Given the description of an element on the screen output the (x, y) to click on. 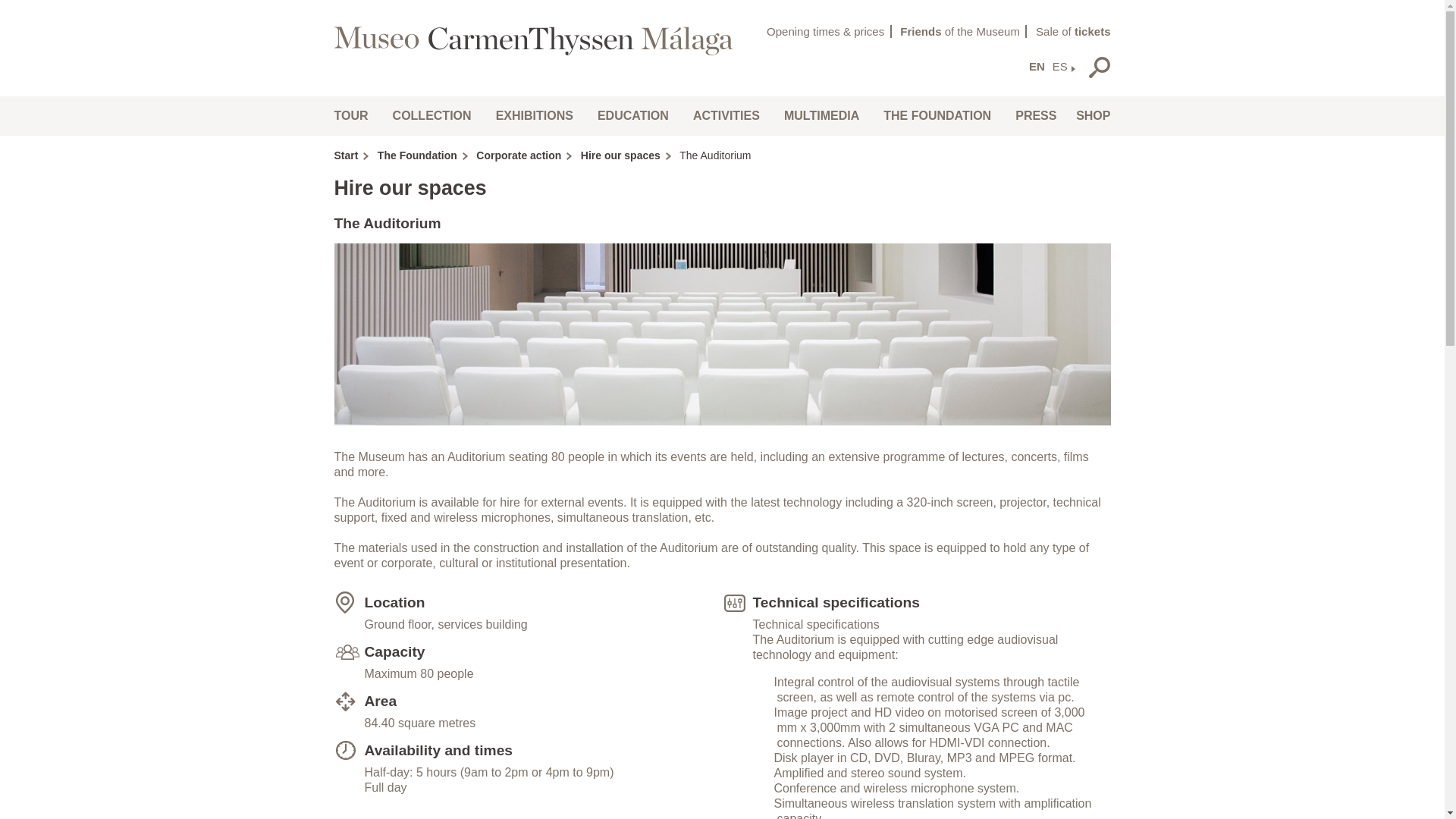
Horarios y tarifas (829, 31)
Sale of tickets (1072, 31)
ES (1059, 66)
Friends of the Museum (962, 31)
Ingles (1036, 66)
Tour (352, 115)
EXHIBITIONS (534, 115)
Collection (431, 115)
Museo Carmen Thyssen (534, 39)
Friends of the Museum (962, 31)
